Given the description of an element on the screen output the (x, y) to click on. 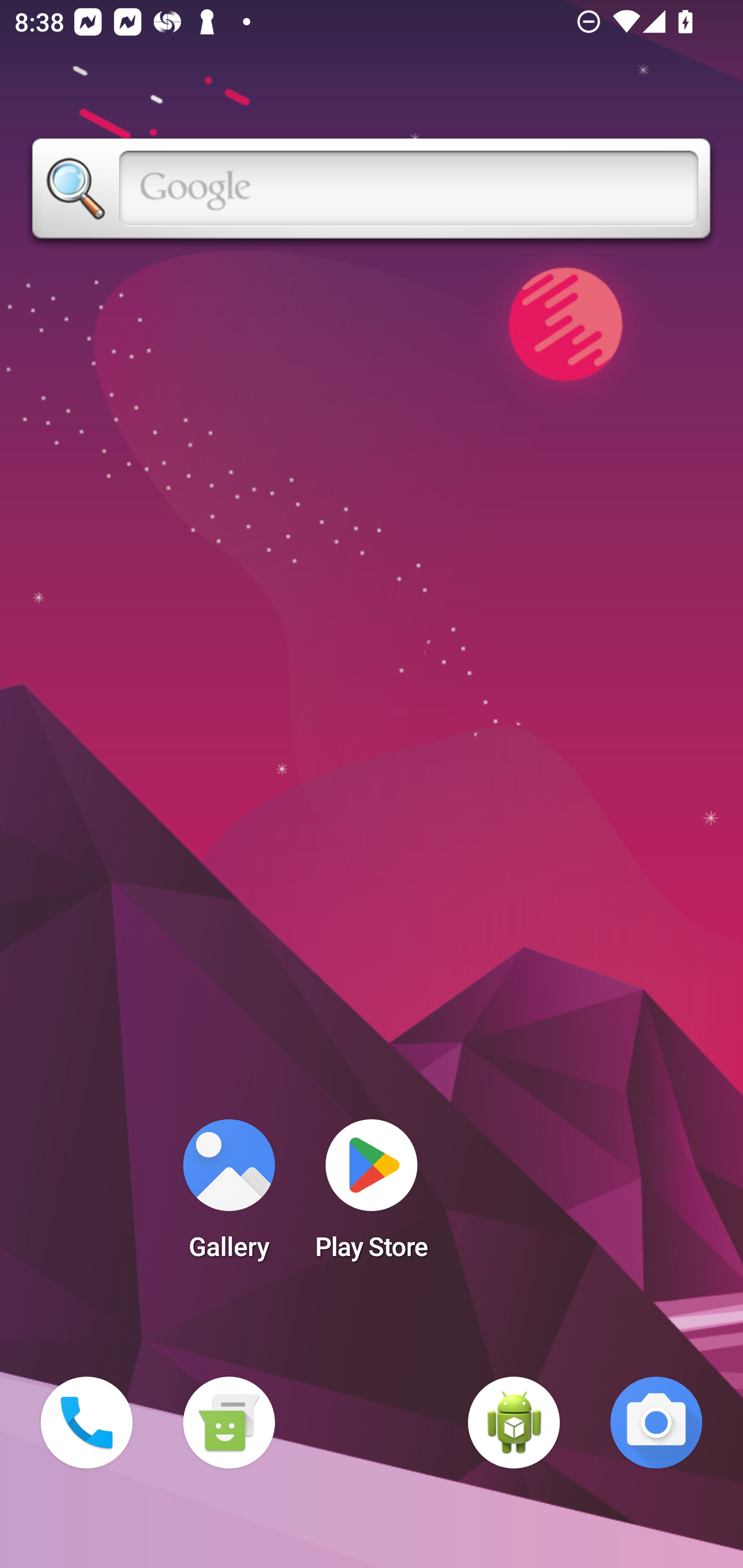
Gallery (228, 1195)
Play Store (371, 1195)
Phone (86, 1422)
Messaging (228, 1422)
WebView Browser Tester (513, 1422)
Camera (656, 1422)
